Given the description of an element on the screen output the (x, y) to click on. 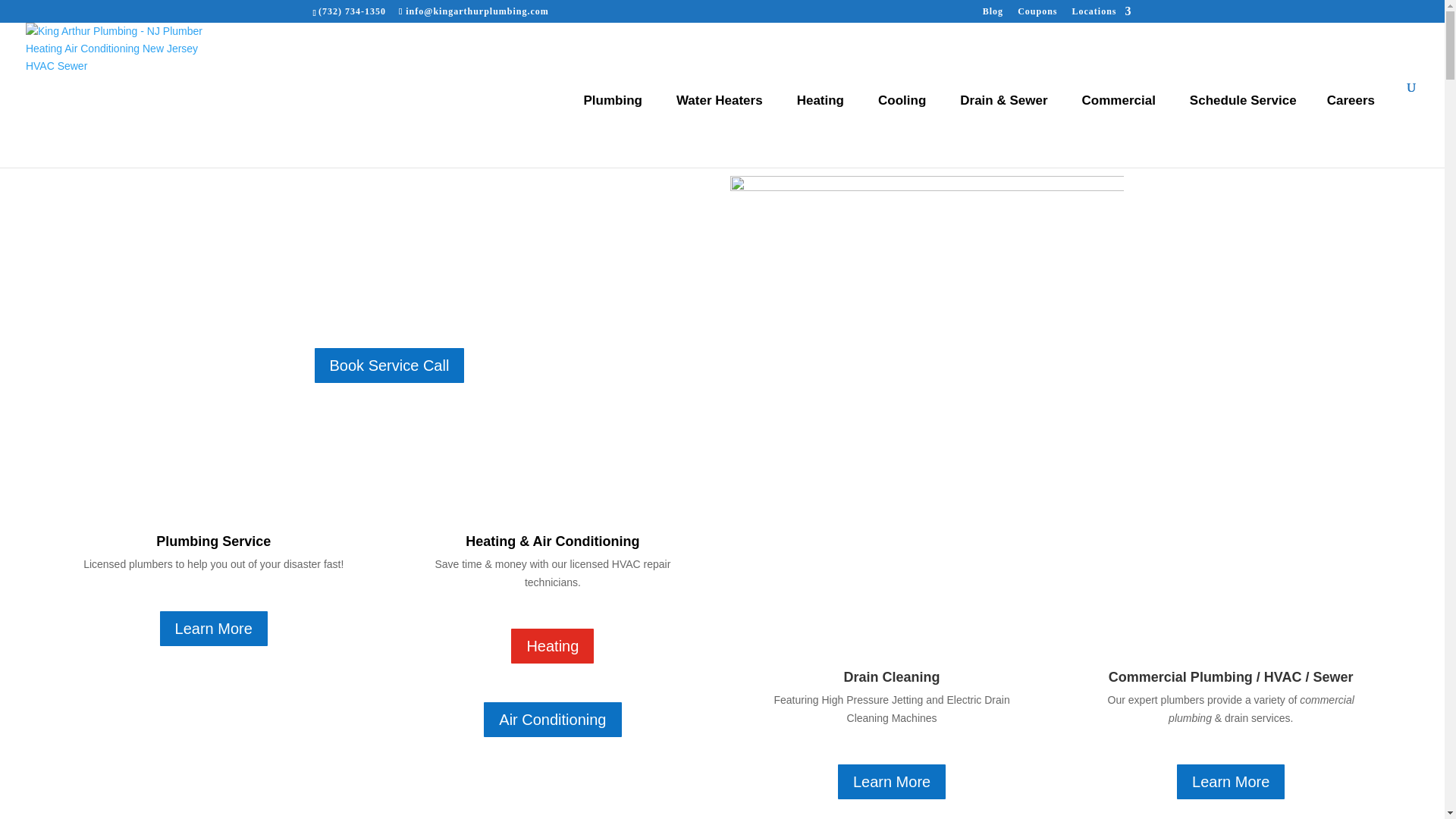
Cooling (903, 124)
Water Heaters (721, 124)
Heating (822, 124)
Blog (992, 14)
Plumbing (615, 124)
Coupons (1037, 14)
Locations (1101, 14)
